Given the description of an element on the screen output the (x, y) to click on. 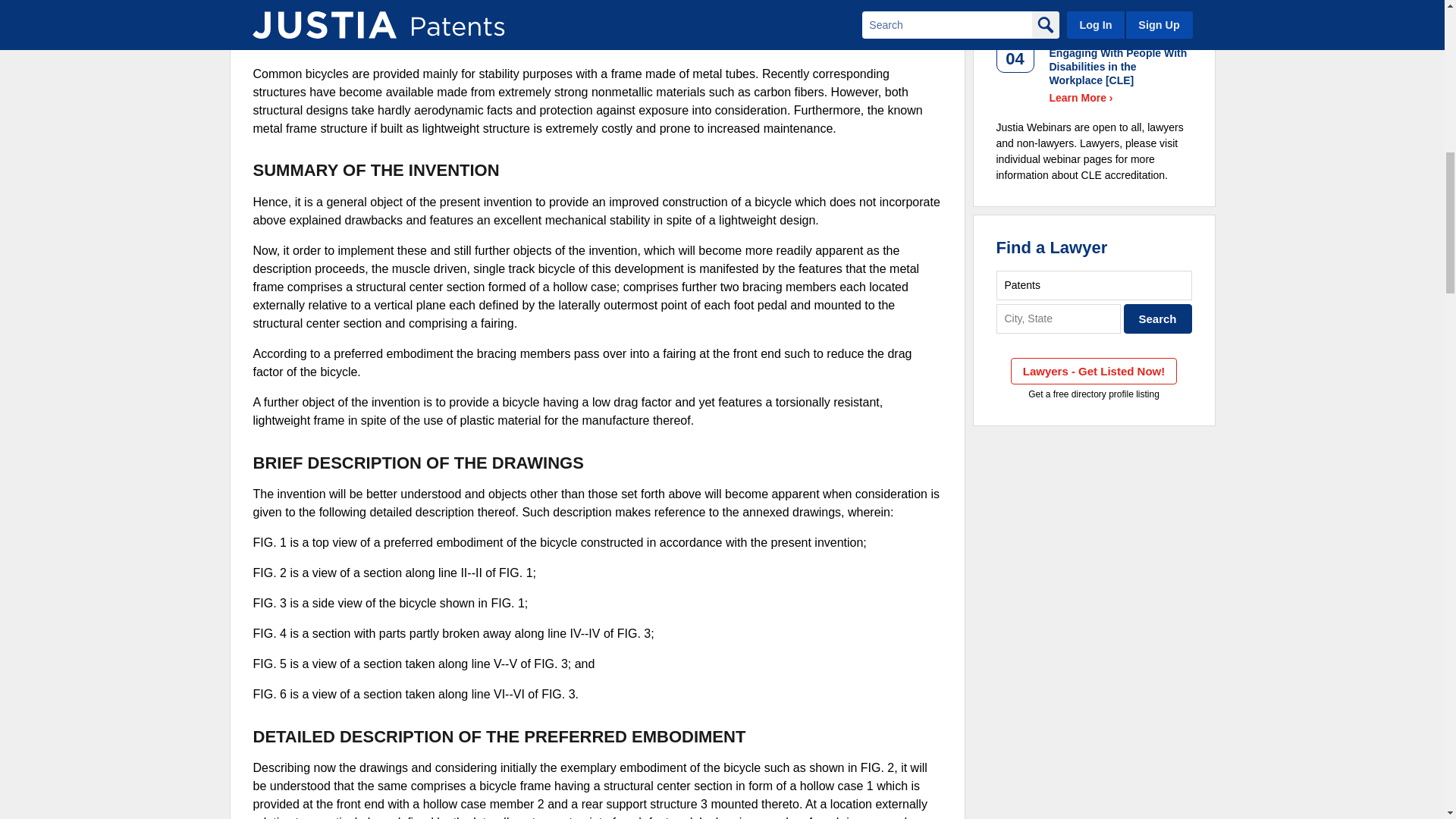
City, State (1058, 318)
Legal Issue or Lawyer Name (1093, 285)
Search (1158, 318)
Patents (1093, 285)
Search (1158, 318)
